Given the description of an element on the screen output the (x, y) to click on. 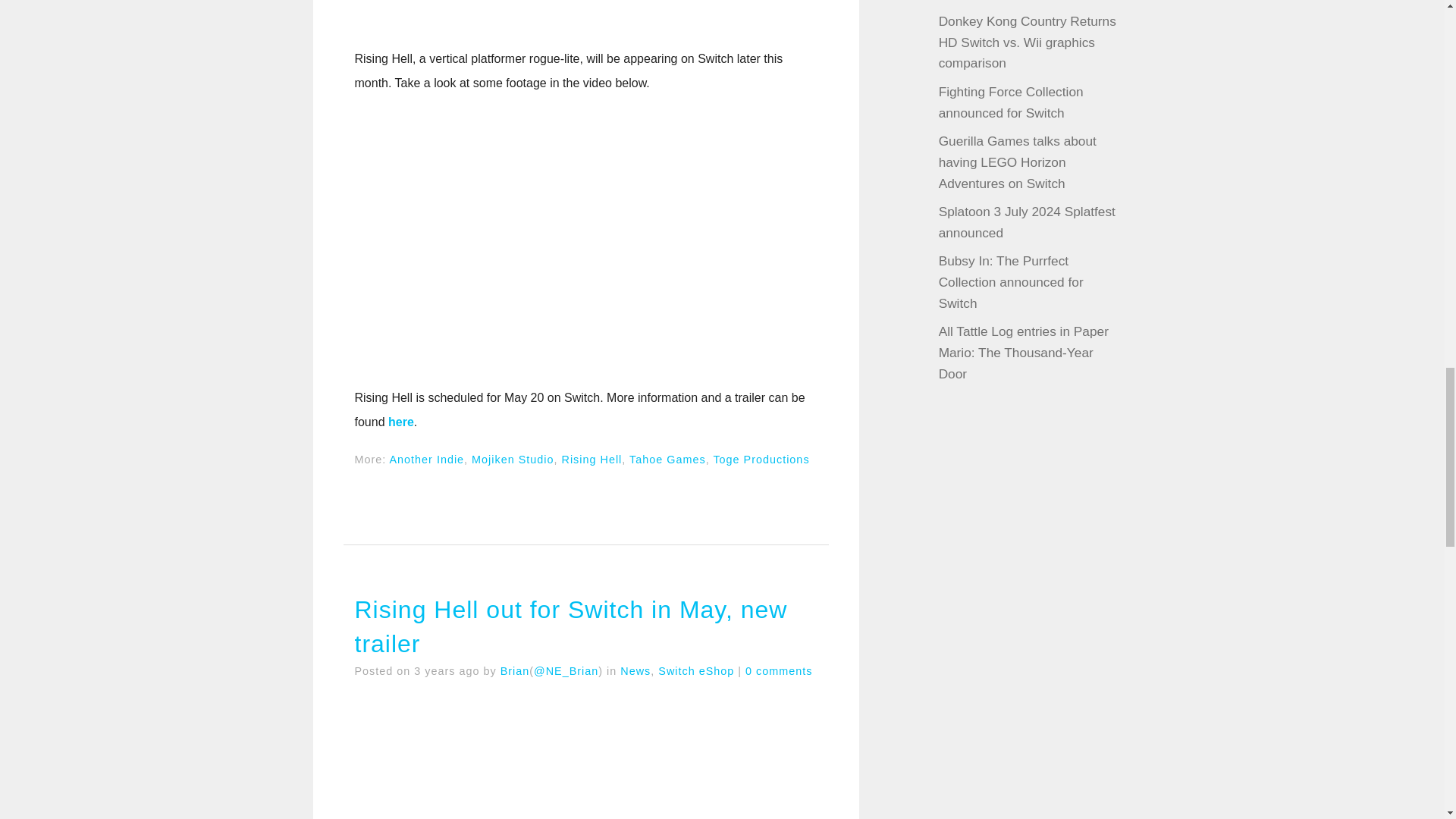
Fighting Force Collection announced for Switch (1011, 102)
Posts by Brian (514, 671)
